Given the description of an element on the screen output the (x, y) to click on. 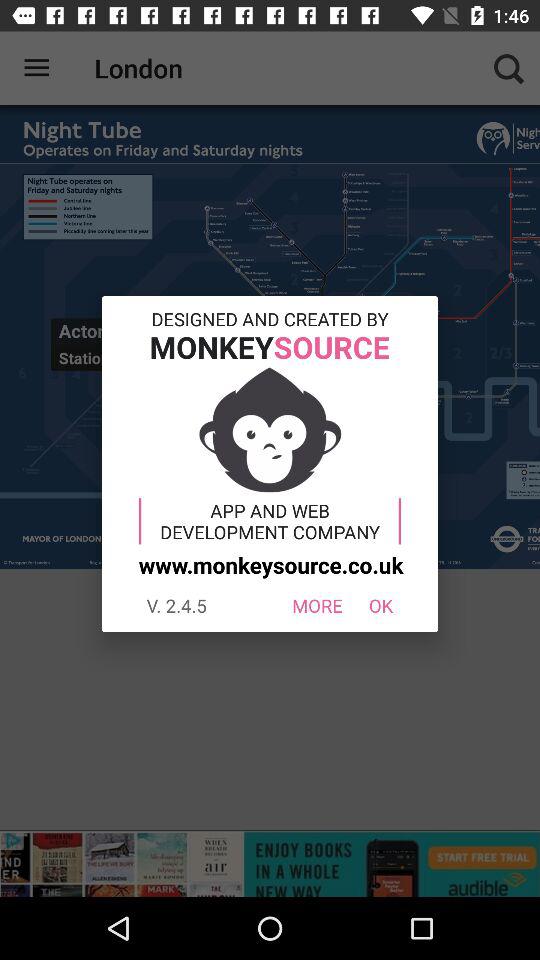
click icon to the right of the more icon (380, 605)
